Given the description of an element on the screen output the (x, y) to click on. 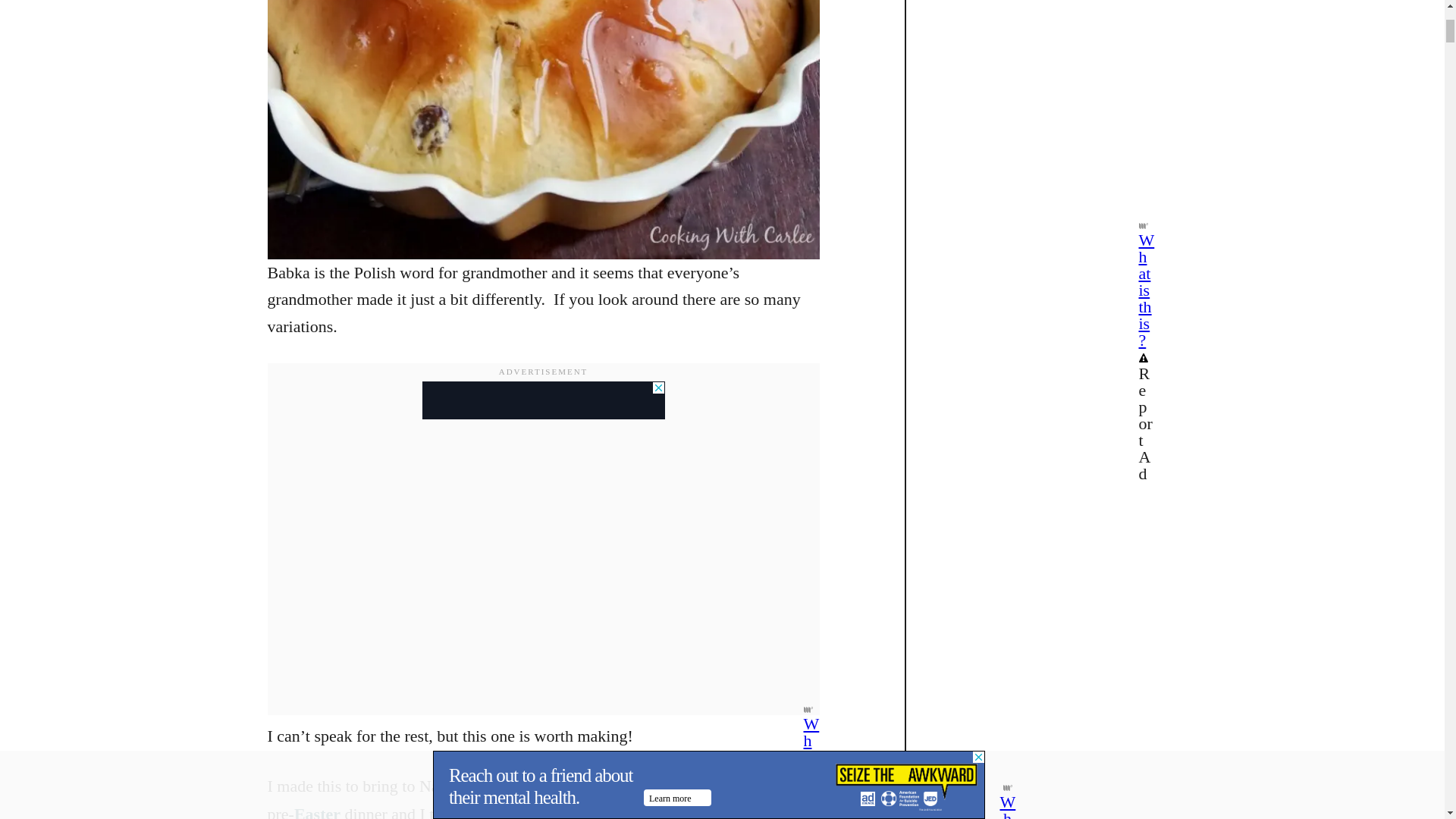
3rd party ad content (542, 400)
Easter (317, 811)
